Given the description of an element on the screen output the (x, y) to click on. 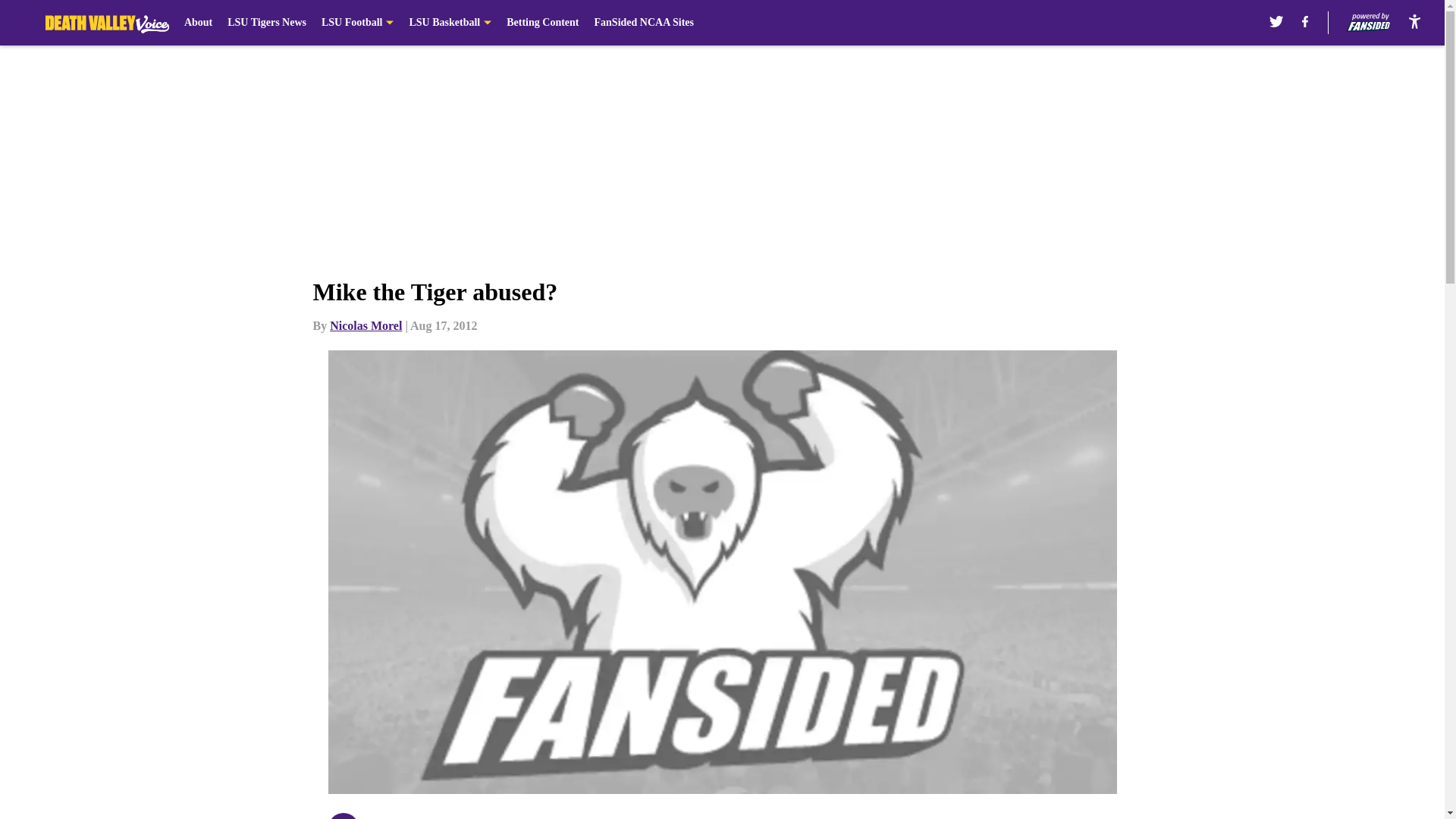
About (198, 22)
LSU Tigers News (266, 22)
Nicolas Morel (365, 325)
Betting Content (542, 22)
FanSided NCAA Sites (644, 22)
